Given the description of an element on the screen output the (x, y) to click on. 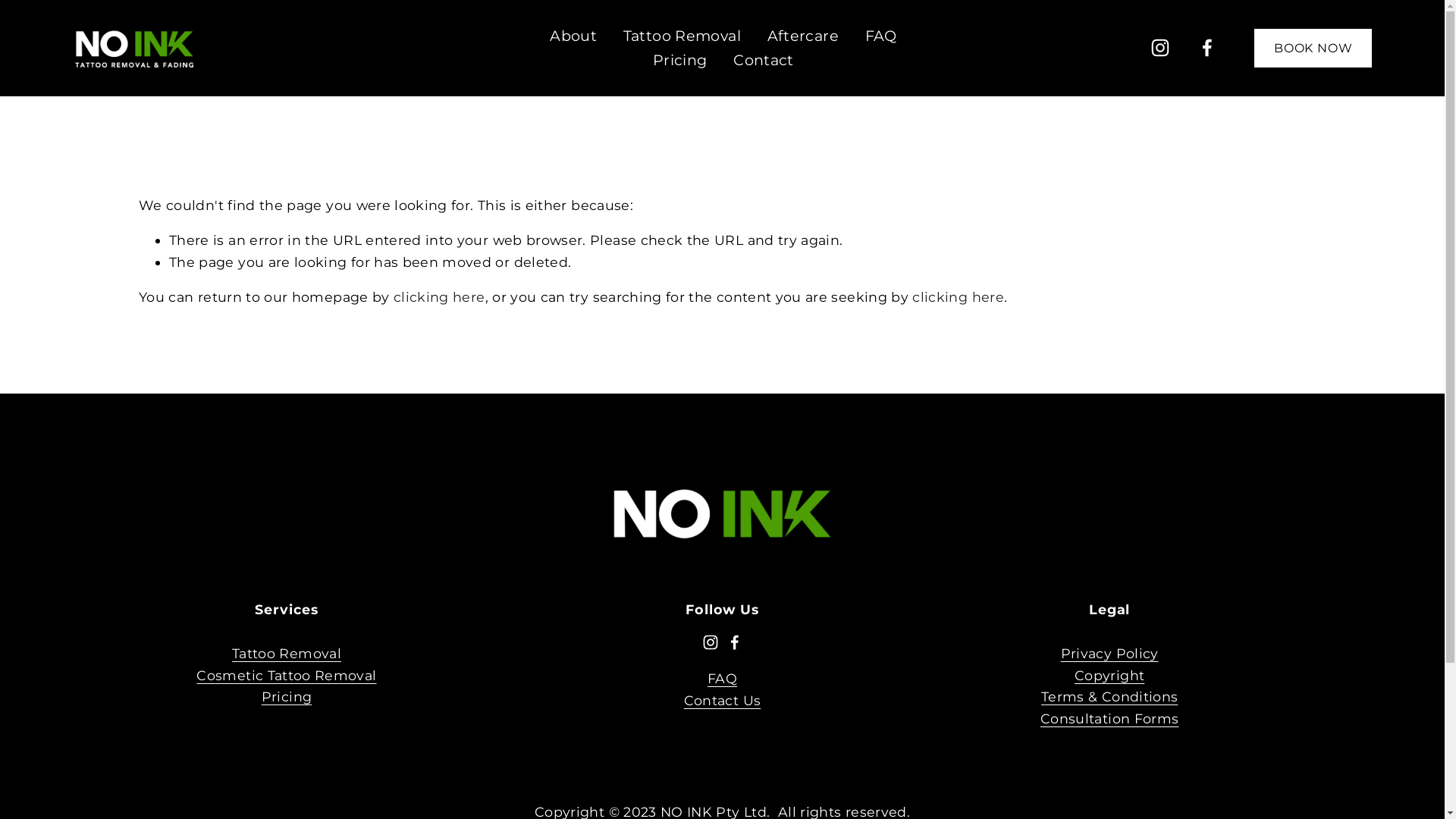
Cosmetic Tattoo Removal Element type: text (286, 676)
Tattoo Removal Element type: text (681, 35)
Pricing Element type: text (286, 697)
clicking here Element type: text (439, 296)
Contact Element type: text (763, 59)
Privacy Policy Element type: text (1109, 654)
Terms & Conditions Element type: text (1109, 697)
Tattoo Removal Element type: text (286, 654)
Copyright Element type: text (1109, 676)
clicking here Element type: text (958, 296)
About Element type: text (572, 35)
BOOK NOW Element type: text (1312, 47)
FAQ Element type: text (881, 35)
Contact Us Element type: text (722, 701)
FAQ Element type: text (722, 679)
Aftercare Element type: text (802, 35)
Pricing Element type: text (679, 59)
Consultation Forms Element type: text (1109, 719)
